Given the description of an element on the screen output the (x, y) to click on. 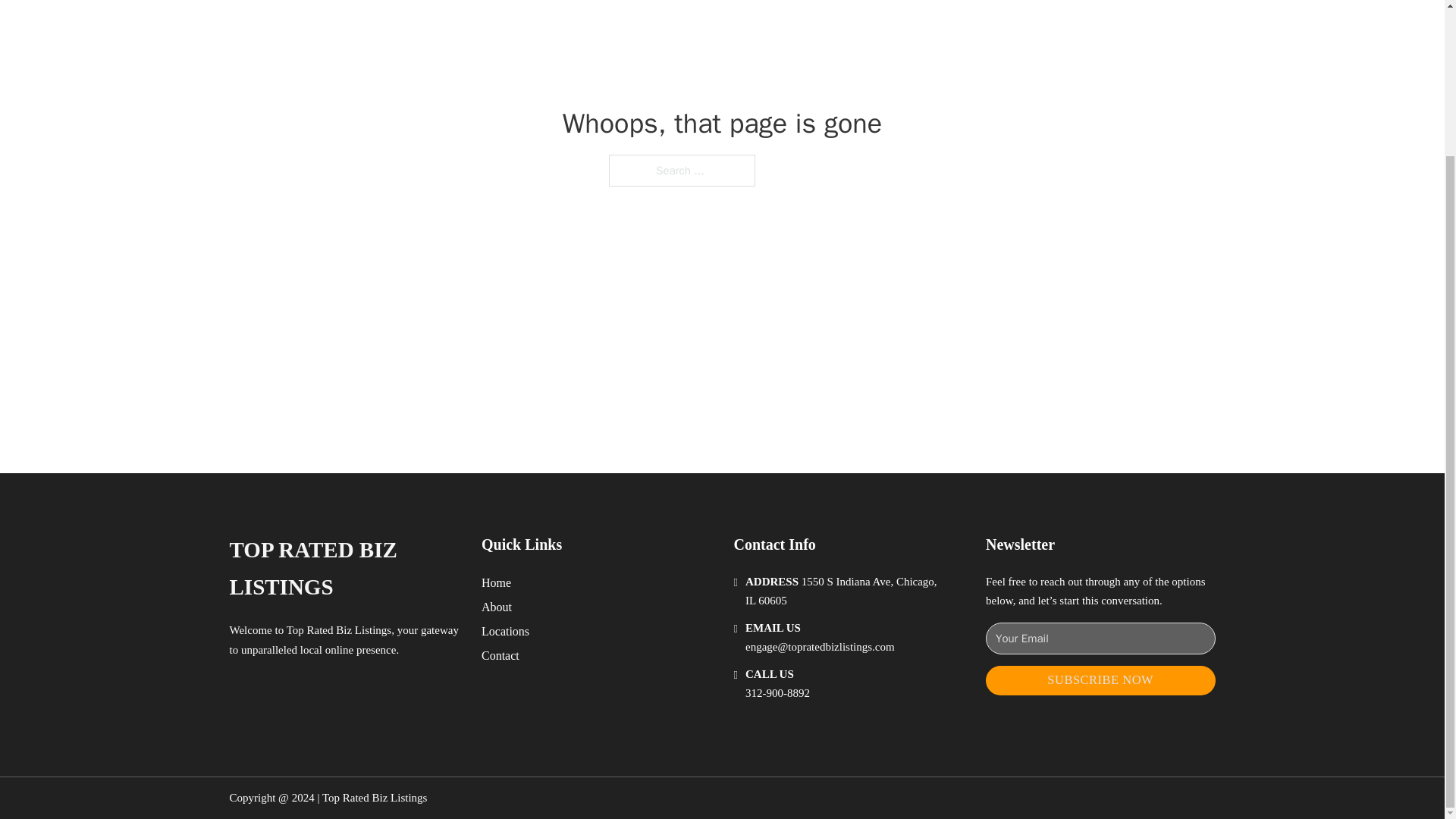
SUBSCRIBE NOW (1100, 680)
Home (496, 582)
About (496, 607)
Locations (505, 630)
TOP RATED BIZ LISTINGS (343, 568)
312-900-8892 (777, 693)
Contact (500, 655)
